Given the description of an element on the screen output the (x, y) to click on. 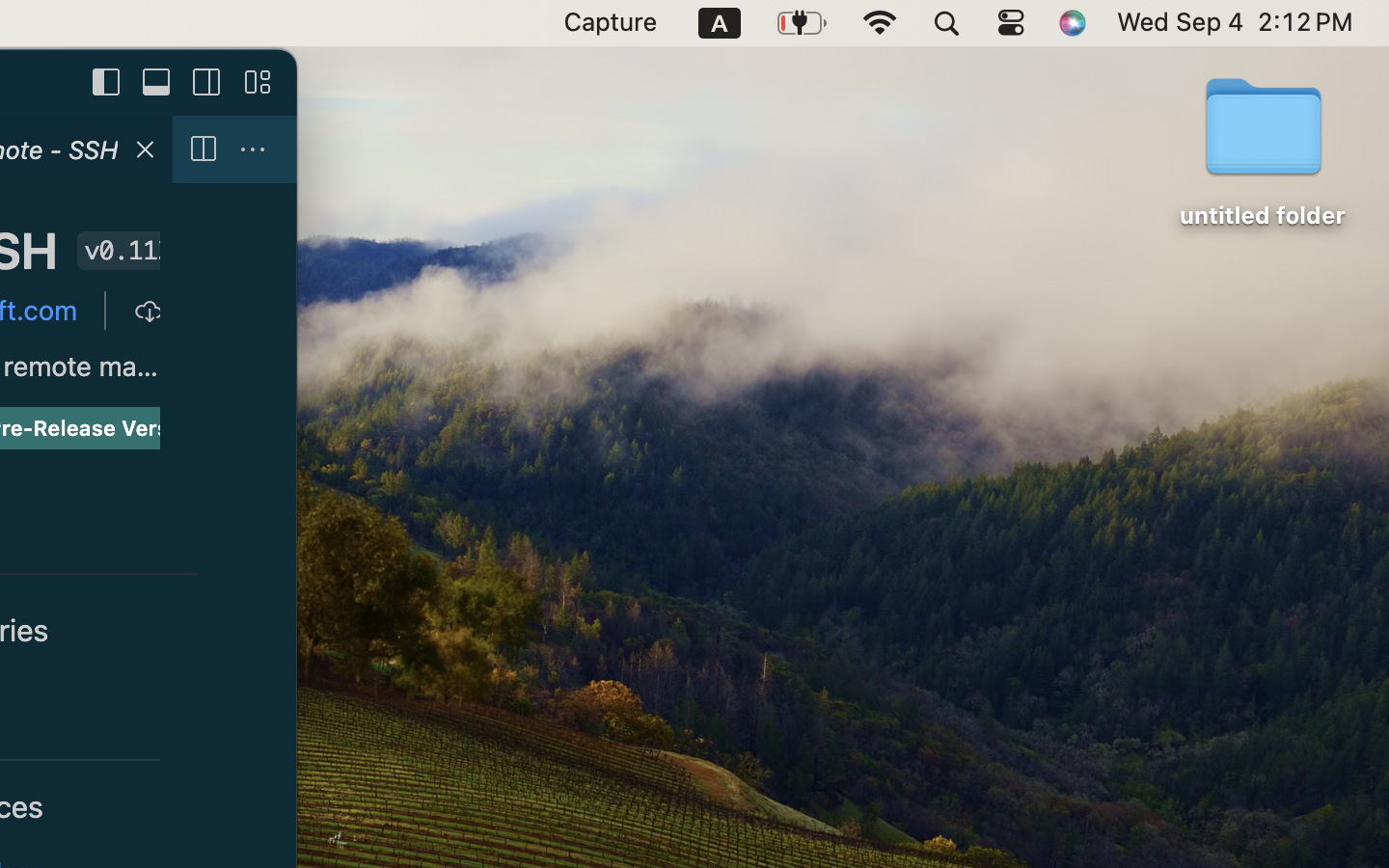
 Element type: AXStaticText (252, 150)
 Element type: AXButton (257, 82)
v0.113.1 Element type: AXStaticText (123, 250)
